Given the description of an element on the screen output the (x, y) to click on. 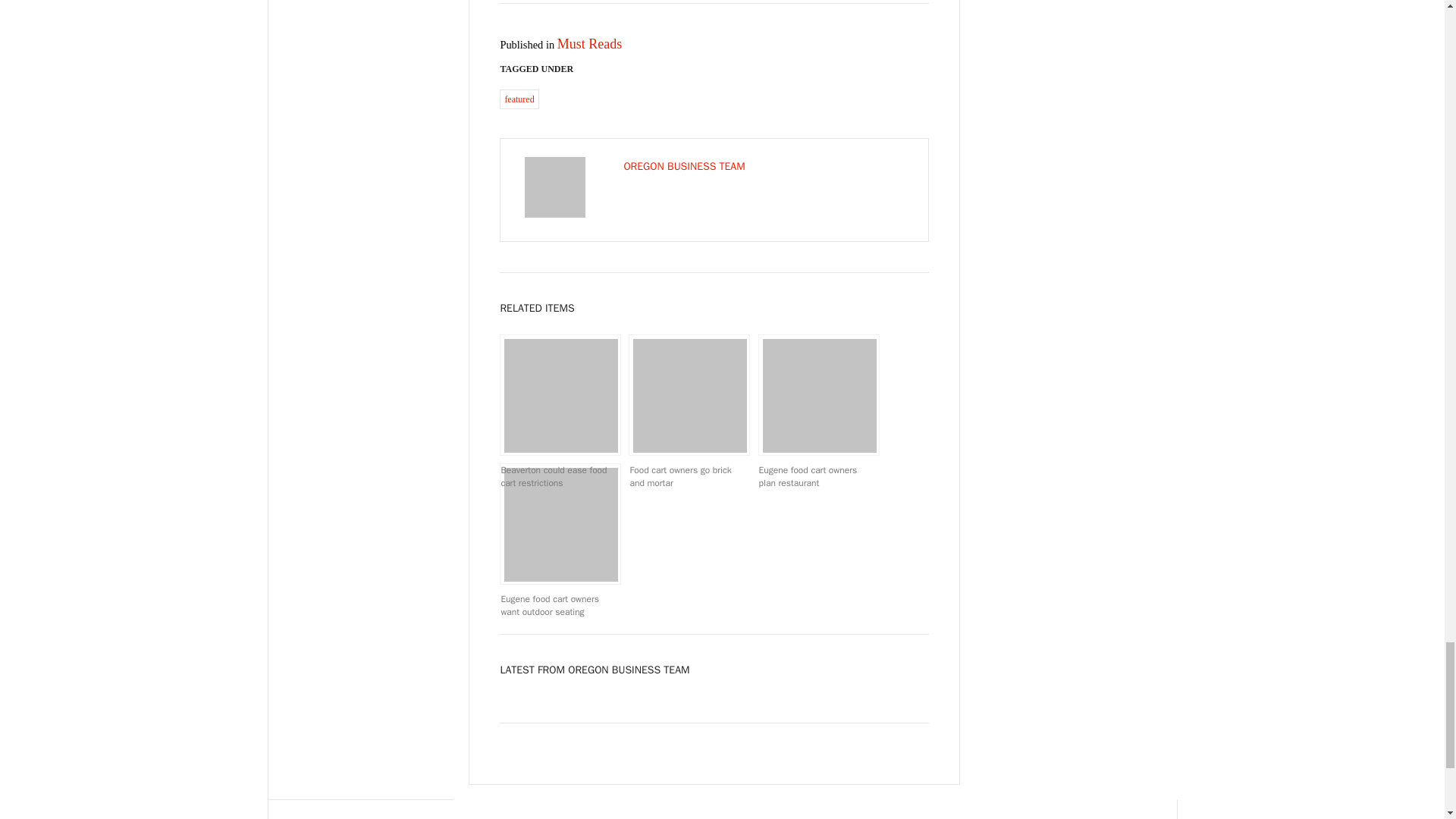
Food cart owners go brick and mortar (688, 394)
Eugene food cart owners plan restaurant (818, 394)
View all posts by Oregon Business Team (683, 164)
Beaverton could ease food cart restrictions (560, 394)
